Given the description of an element on the screen output the (x, y) to click on. 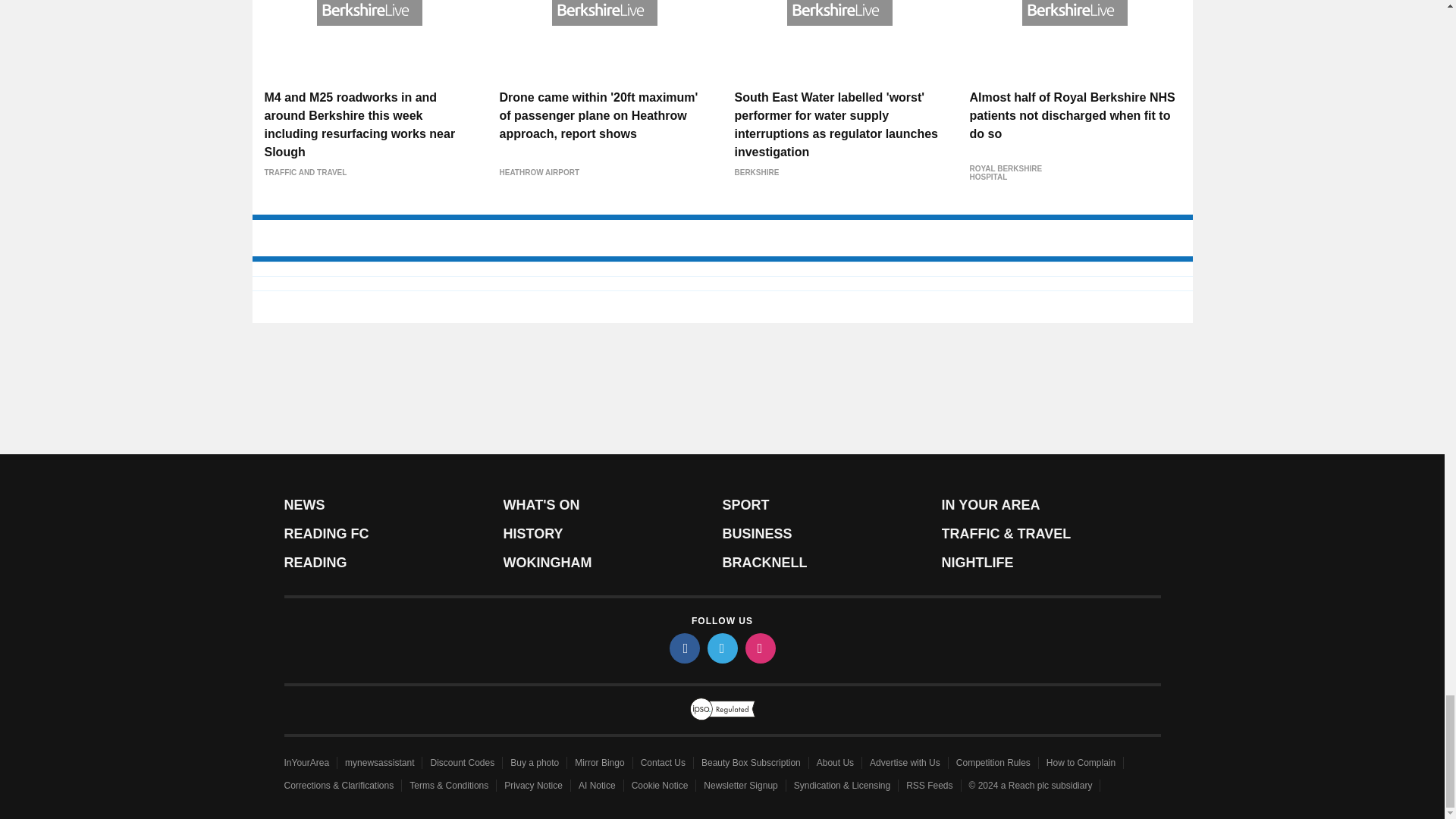
twitter (721, 648)
instagram (759, 648)
facebook (683, 648)
